Given the description of an element on the screen output the (x, y) to click on. 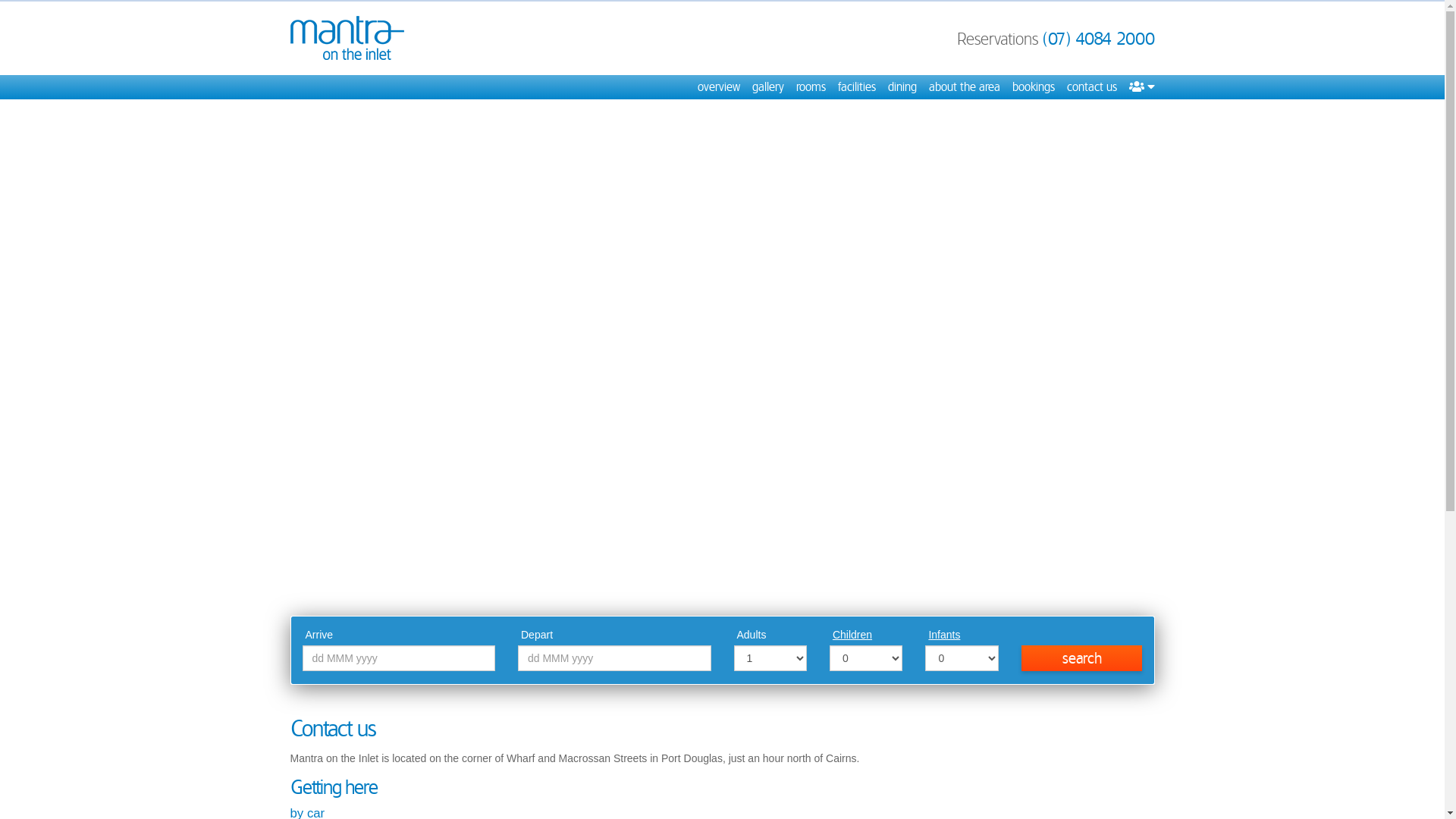
gallery Element type: text (768, 87)
contact us Element type: text (1091, 87)
(07) 4084 2000 Element type: text (1097, 38)
Mantra on the Inlet Element type: hover (346, 37)
facilities Element type: text (856, 87)
search Element type: text (1081, 658)
overview Element type: text (718, 87)
rooms Element type: text (810, 87)
bookings Element type: text (1032, 87)
about the area Element type: text (963, 87)
dining Element type: text (901, 87)
